Given the description of an element on the screen output the (x, y) to click on. 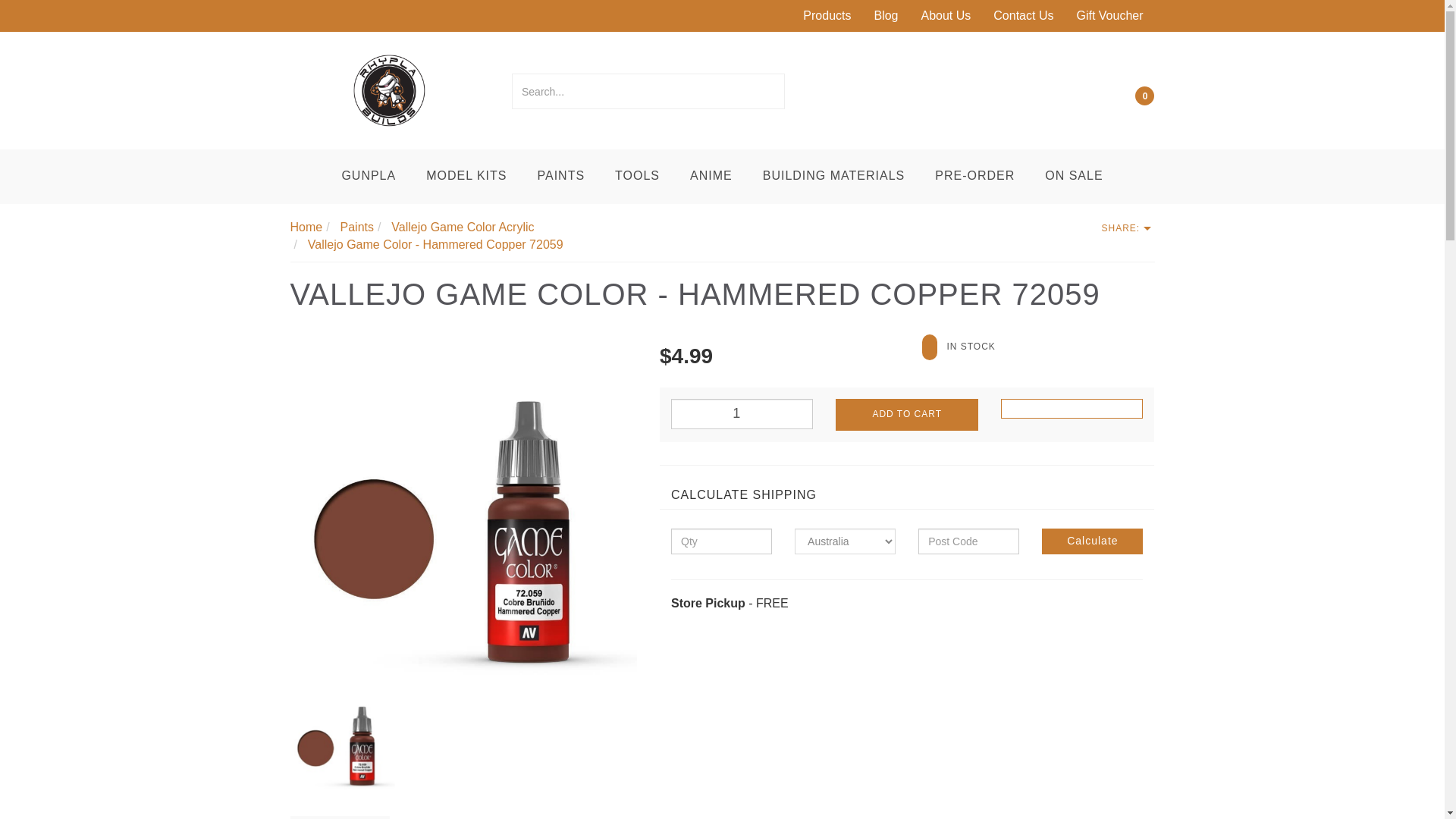
rhyplabuilds (389, 89)
Add to Cart (905, 414)
1 (741, 413)
Calculate (1092, 541)
Large View (463, 514)
